Given the description of an element on the screen output the (x, y) to click on. 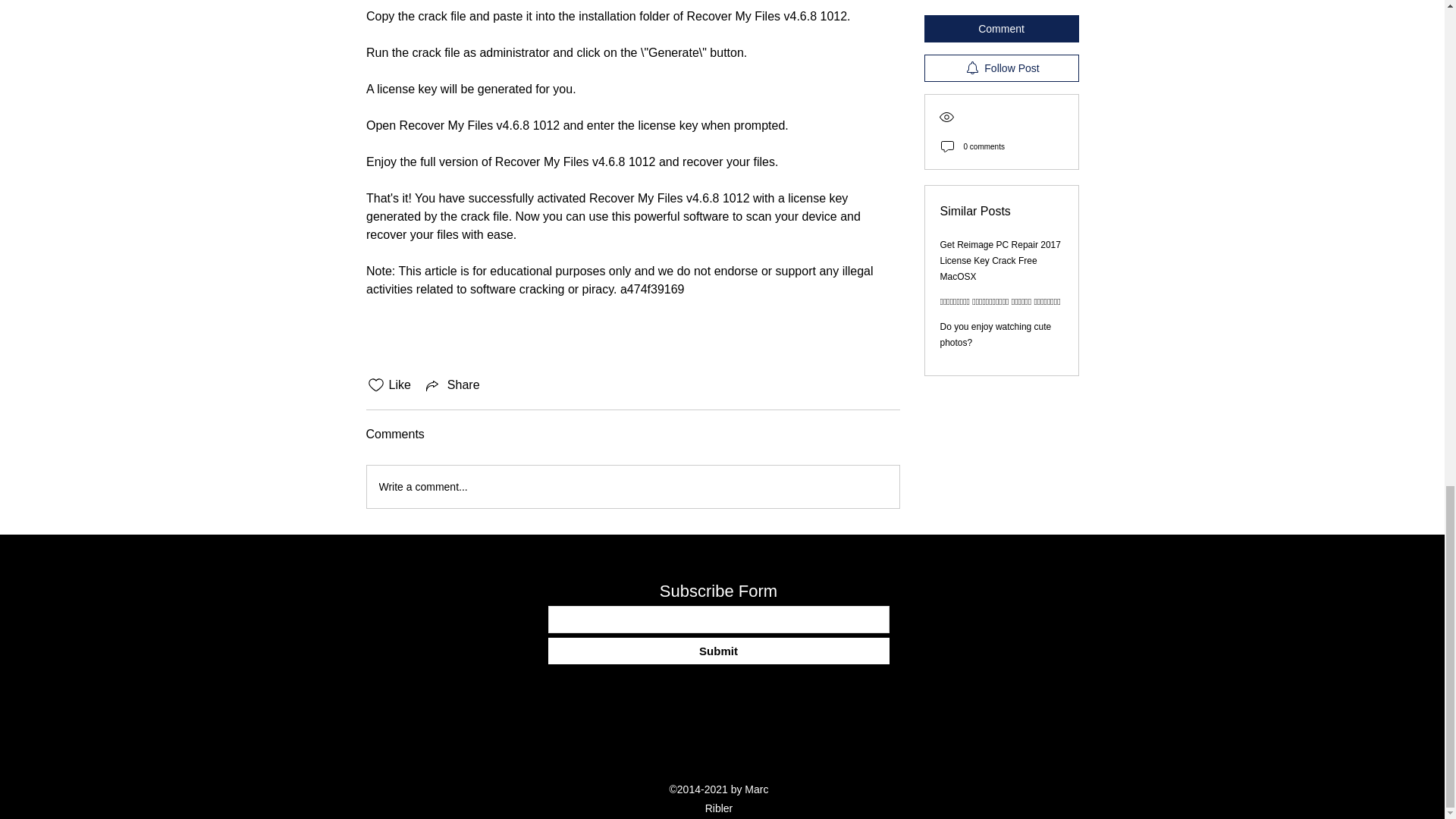
Share (451, 384)
Submit (717, 651)
Write a comment... (632, 486)
